Given the description of an element on the screen output the (x, y) to click on. 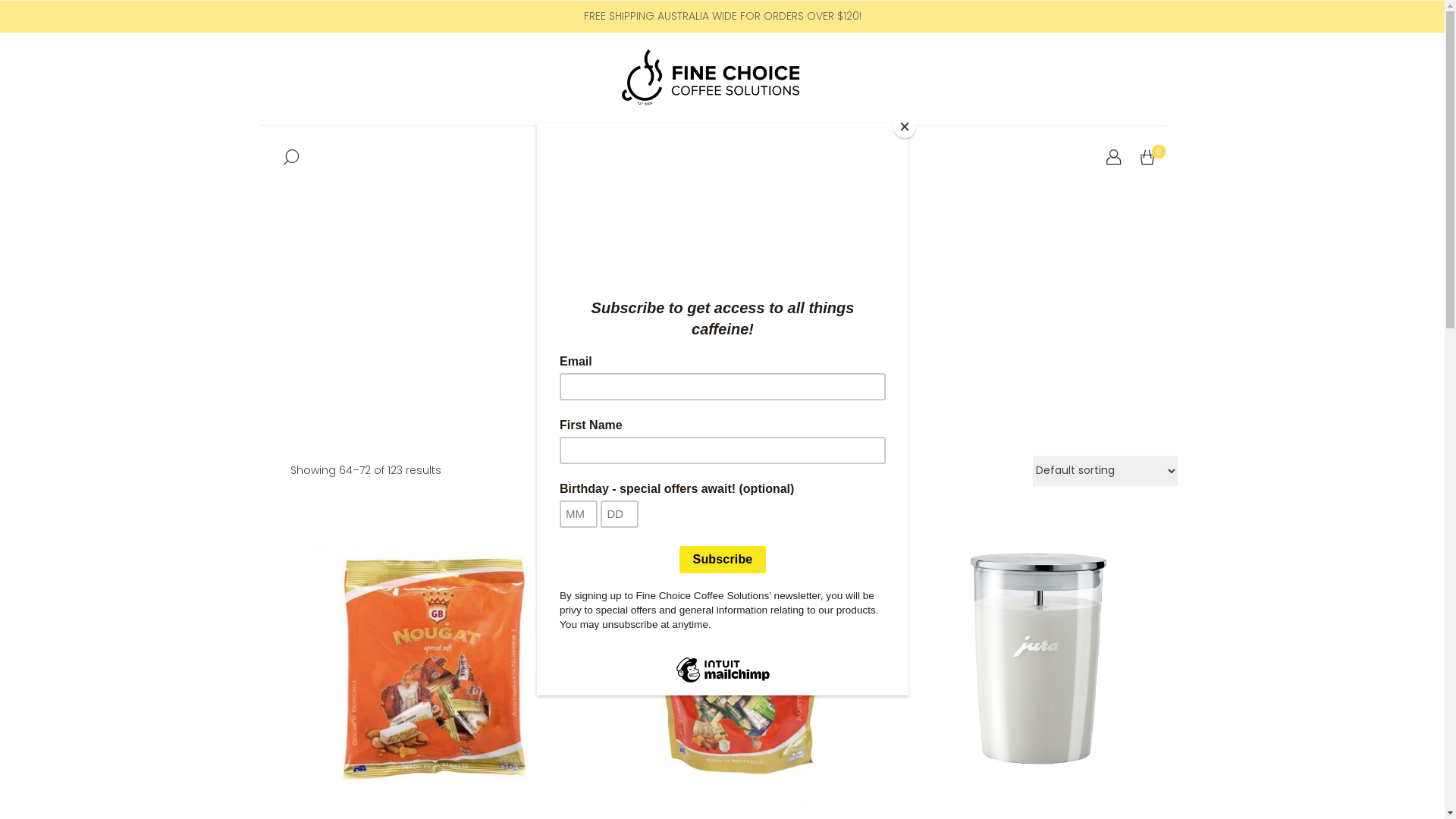
0 Element type: text (1146, 157)
Community Element type: text (744, 157)
Shop Element type: text (592, 157)
Contact Element type: text (831, 157)
Servicing Element type: text (654, 157)
